Given the description of an element on the screen output the (x, y) to click on. 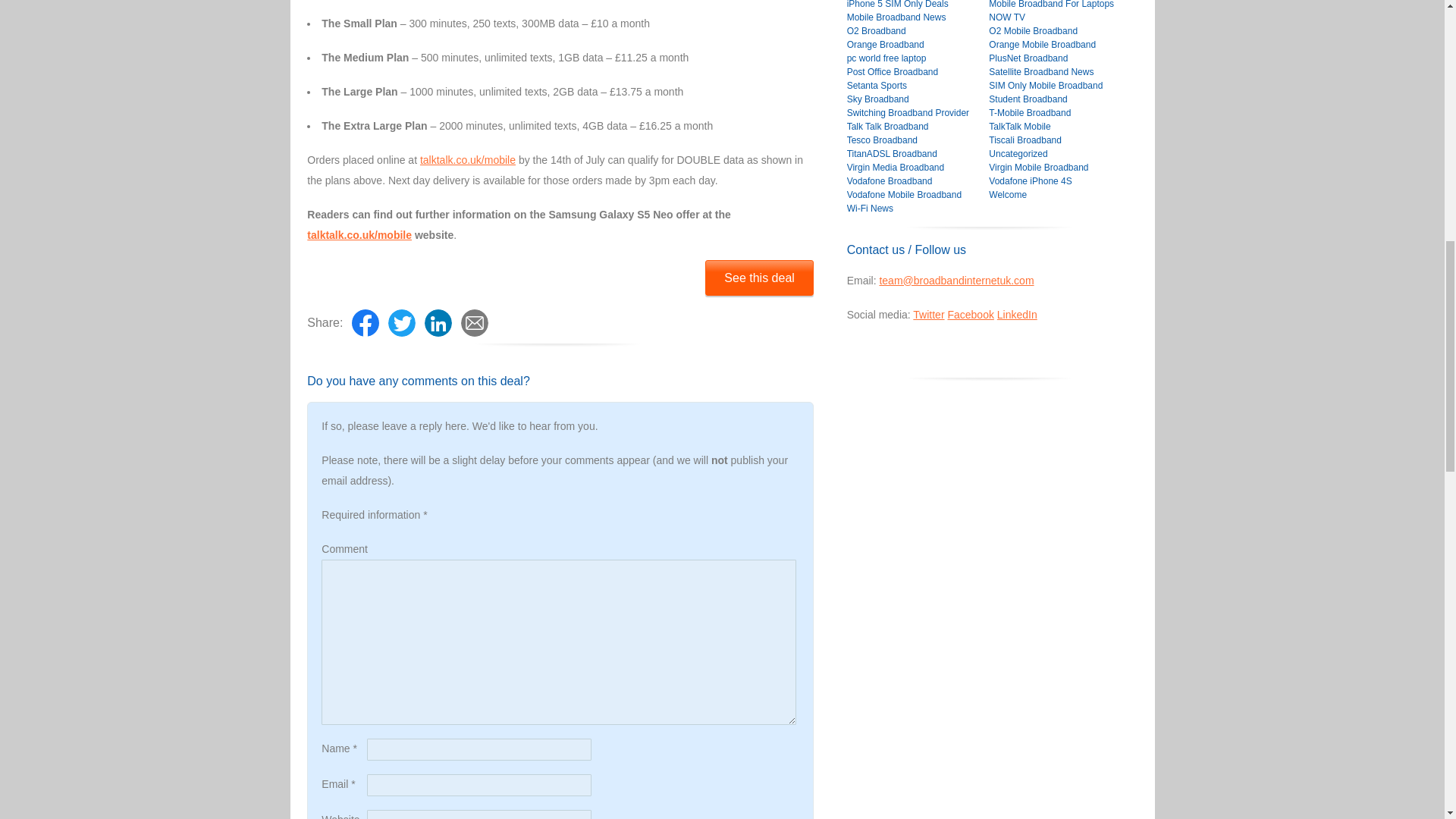
See this deal (758, 276)
See This Deal (758, 276)
